Given the description of an element on the screen output the (x, y) to click on. 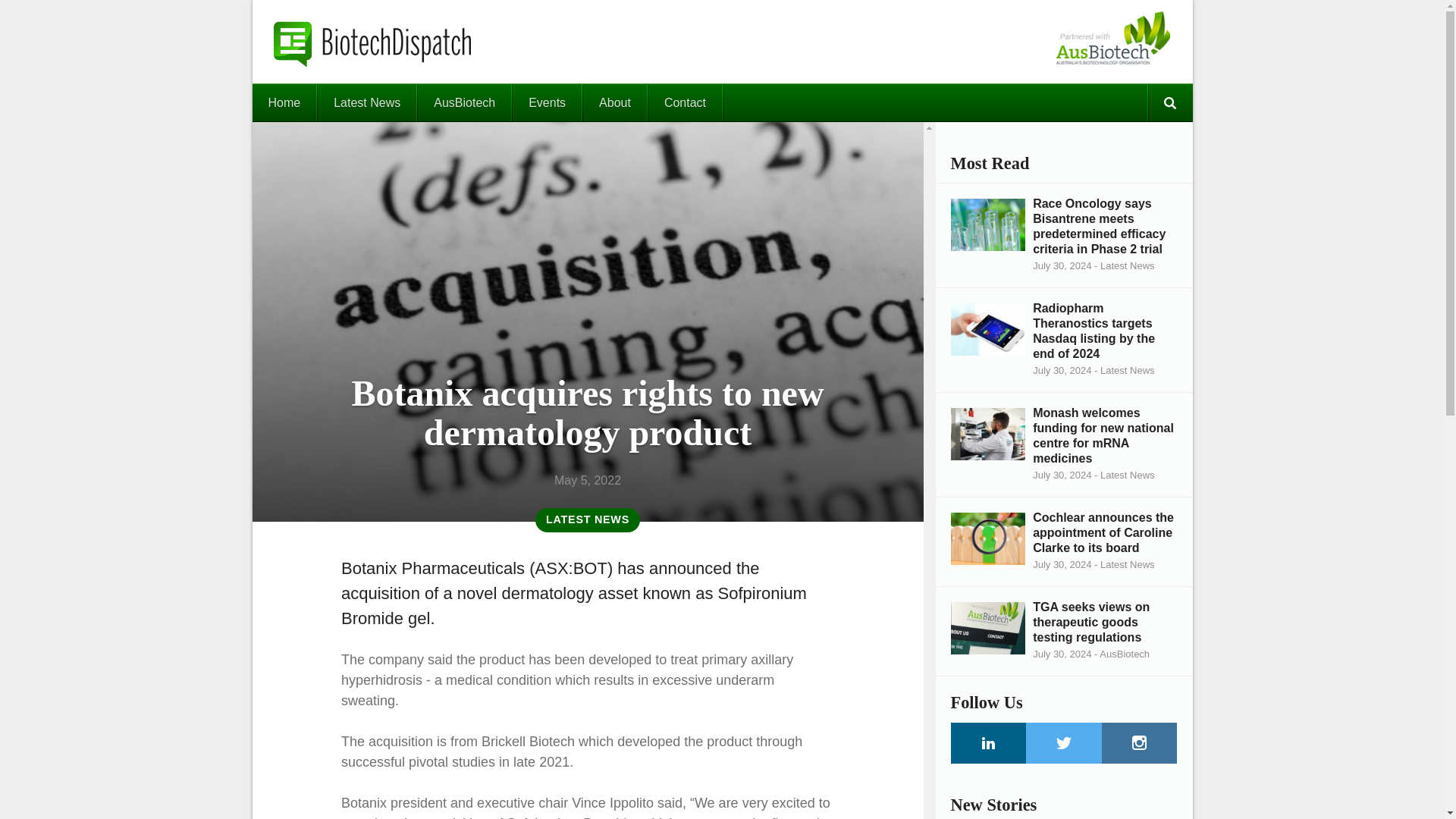
Latest News (366, 102)
Search (1169, 102)
Follow on LinkedIn (988, 742)
Follow on Instagram (1139, 742)
Contact (684, 102)
Home (283, 102)
About (614, 102)
LinkedIn (988, 742)
AusBiotech (464, 102)
LATEST NEWS (587, 519)
Events (546, 102)
